Given the description of an element on the screen output the (x, y) to click on. 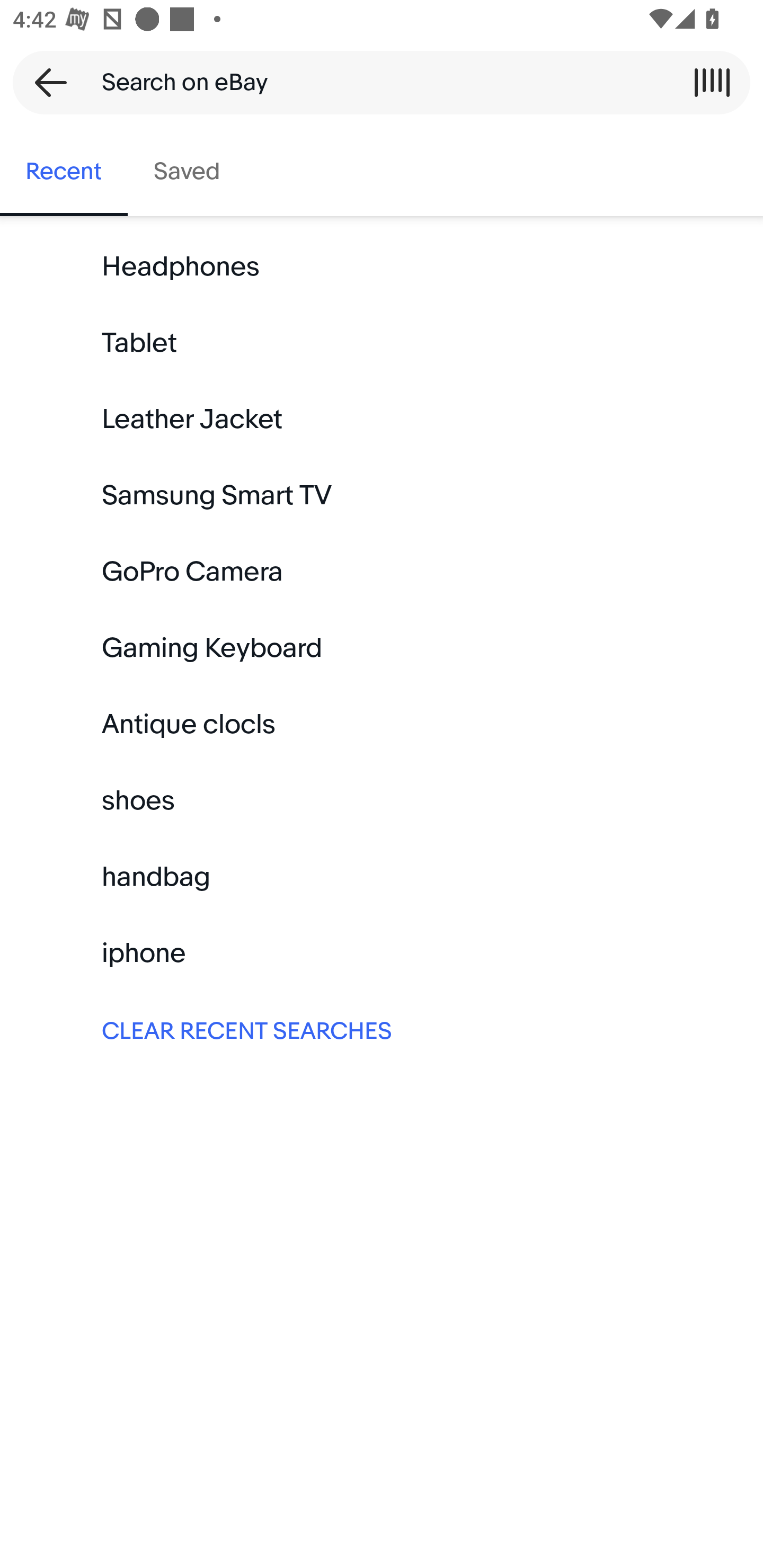
Back (44, 82)
Scan a barcode (711, 82)
Search on eBay (375, 82)
Saved, tab 2 of 2 Saved (186, 171)
Headphones Keyword search Headphones: (381, 266)
Tablet Keyword search Tablet: (381, 343)
Leather Jacket Keyword search Leather Jacket: (381, 419)
Samsung Smart TV Keyword search Samsung Smart TV: (381, 495)
GoPro Camera Keyword search GoPro Camera: (381, 571)
Gaming Keyboard Keyword search Gaming Keyboard: (381, 647)
Antique clocls Keyword search Antique clocls: (381, 724)
shoes Keyword search shoes: (381, 800)
handbag Keyword search handbag: (381, 876)
iphone Keyword search iphone: (381, 952)
CLEAR RECENT SEARCHES (381, 1028)
